Given the description of an element on the screen output the (x, y) to click on. 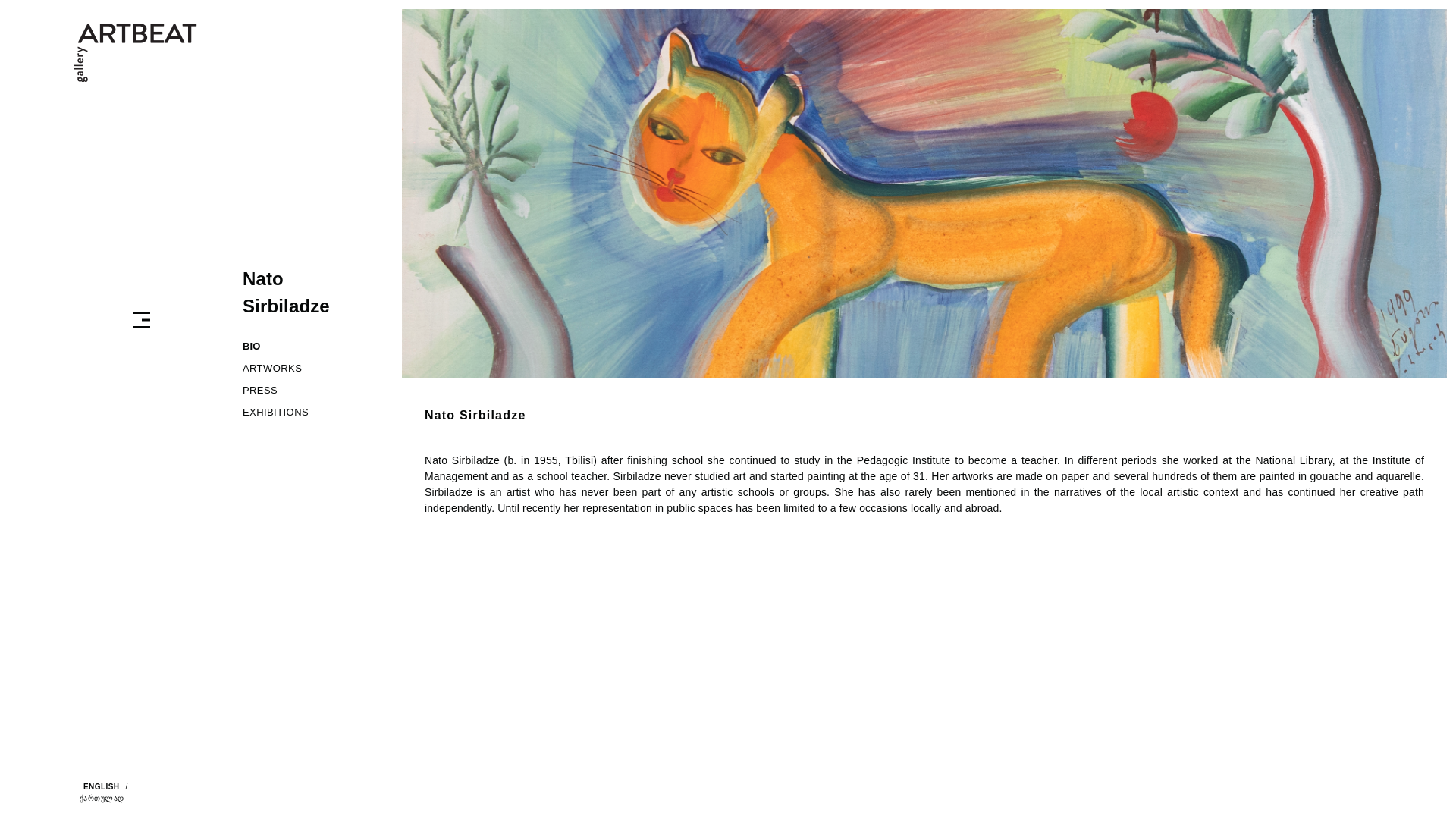
Nato Sirbiladze (286, 292)
EXHIBITIONS (310, 412)
ARTWORKS (310, 368)
BIO (310, 345)
ENGLISH (99, 788)
PRESS (310, 390)
